Given the description of an element on the screen output the (x, y) to click on. 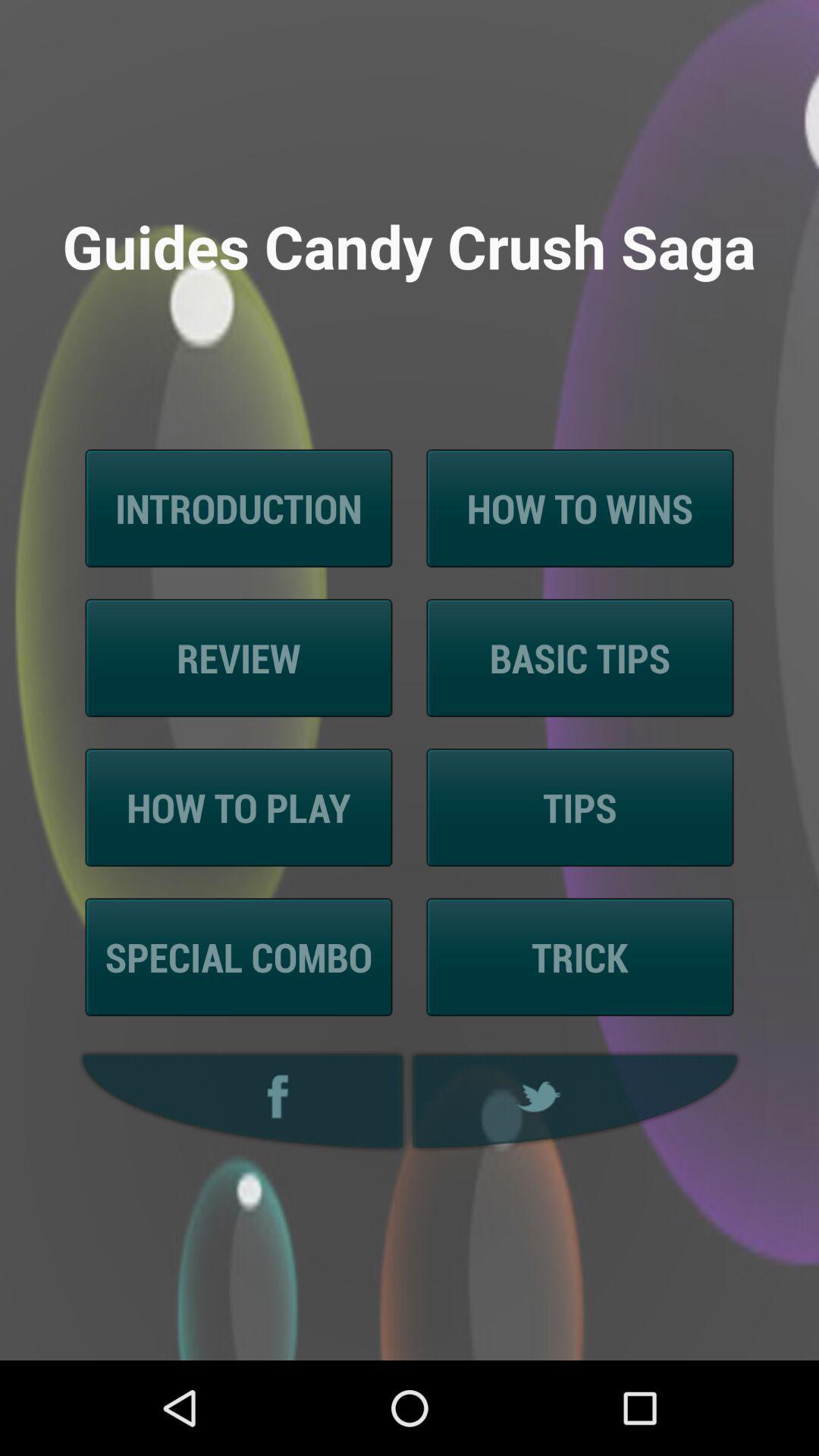
twitter option (577, 1101)
